Given the description of an element on the screen output the (x, y) to click on. 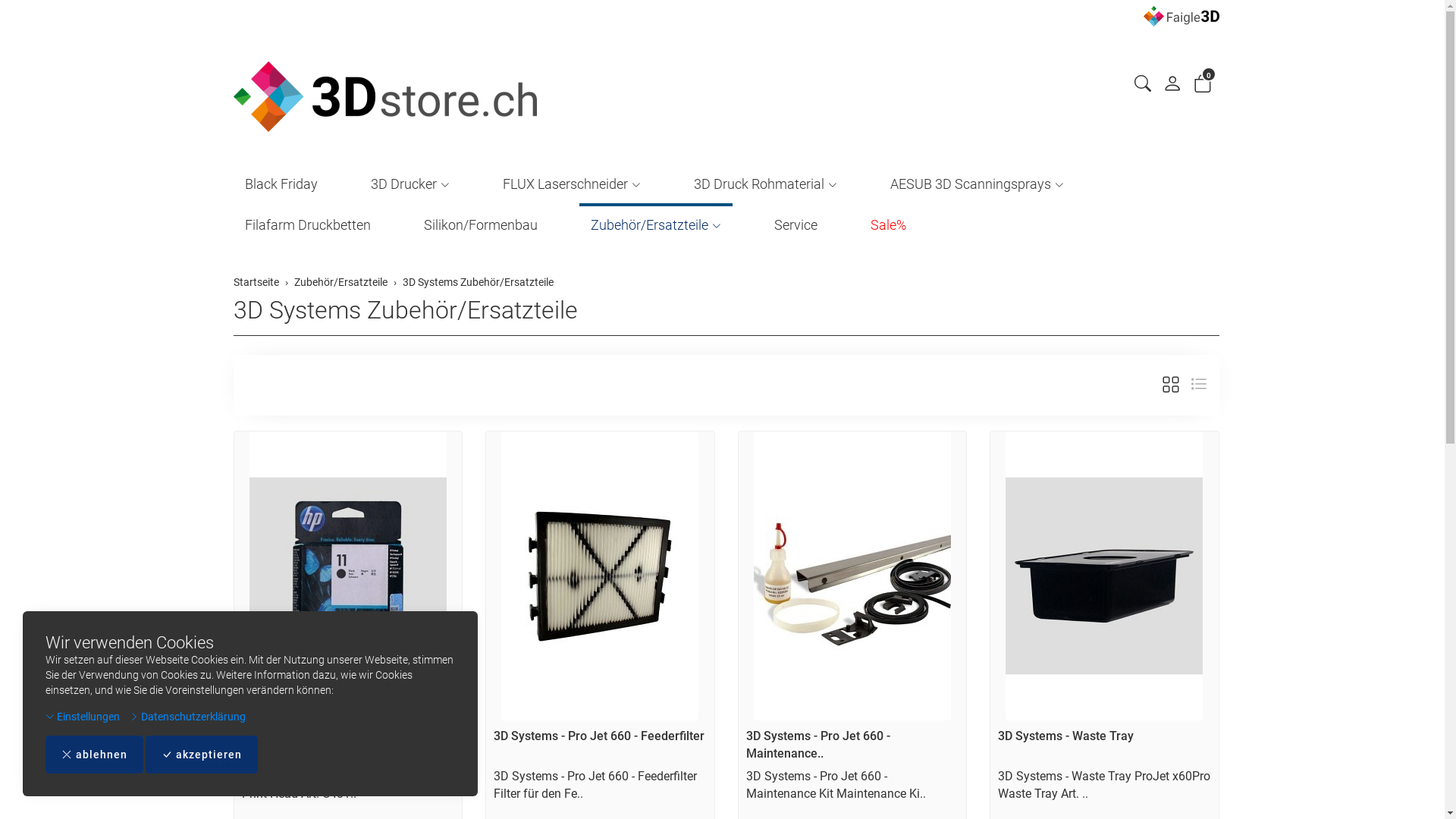
ablehnen Element type: text (94, 754)
Sale% Element type: text (887, 223)
3D Systems - Pro Jet 660 - Maintenance Kit Maintenance Ki.. Element type: text (835, 784)
3D Systems - HP11 Print Head HP11 Print Head Art. C481.. Element type: text (338, 784)
3D Systems - Waste Tray ProJet x60Pro Waste Tray Art. .. Element type: text (1103, 784)
Suche Element type: hover (1142, 85)
Silikon/Formenbau Element type: text (480, 223)
AESUB 3D Scanningsprays Element type: text (976, 182)
FLUX Laserschneider Element type: text (571, 182)
3D Systems - Pro Jet 660 - Maintenance.. Element type: text (818, 744)
3D Systems - HP11 Print Head Element type: text (323, 735)
Service Element type: text (795, 223)
3D Systems - Pro Jet 660 - Feederfilter Element type: text (598, 735)
3D Systems - Waste Tray Element type: text (1065, 735)
3D Drucker Element type: text (410, 182)
Filafarm Druckbetten Element type: text (307, 223)
akzeptieren Element type: text (201, 754)
Listenansicht Element type: hover (1198, 385)
Black Friday Element type: text (281, 182)
0 Element type: text (1202, 86)
3D Druck Rohmaterial Element type: text (765, 182)
Startseite Element type: text (256, 282)
Mein Konto Element type: hover (1171, 87)
Einstellungen Element type: text (82, 716)
Kachelansicht Element type: hover (1170, 385)
